Given the description of an element on the screen output the (x, y) to click on. 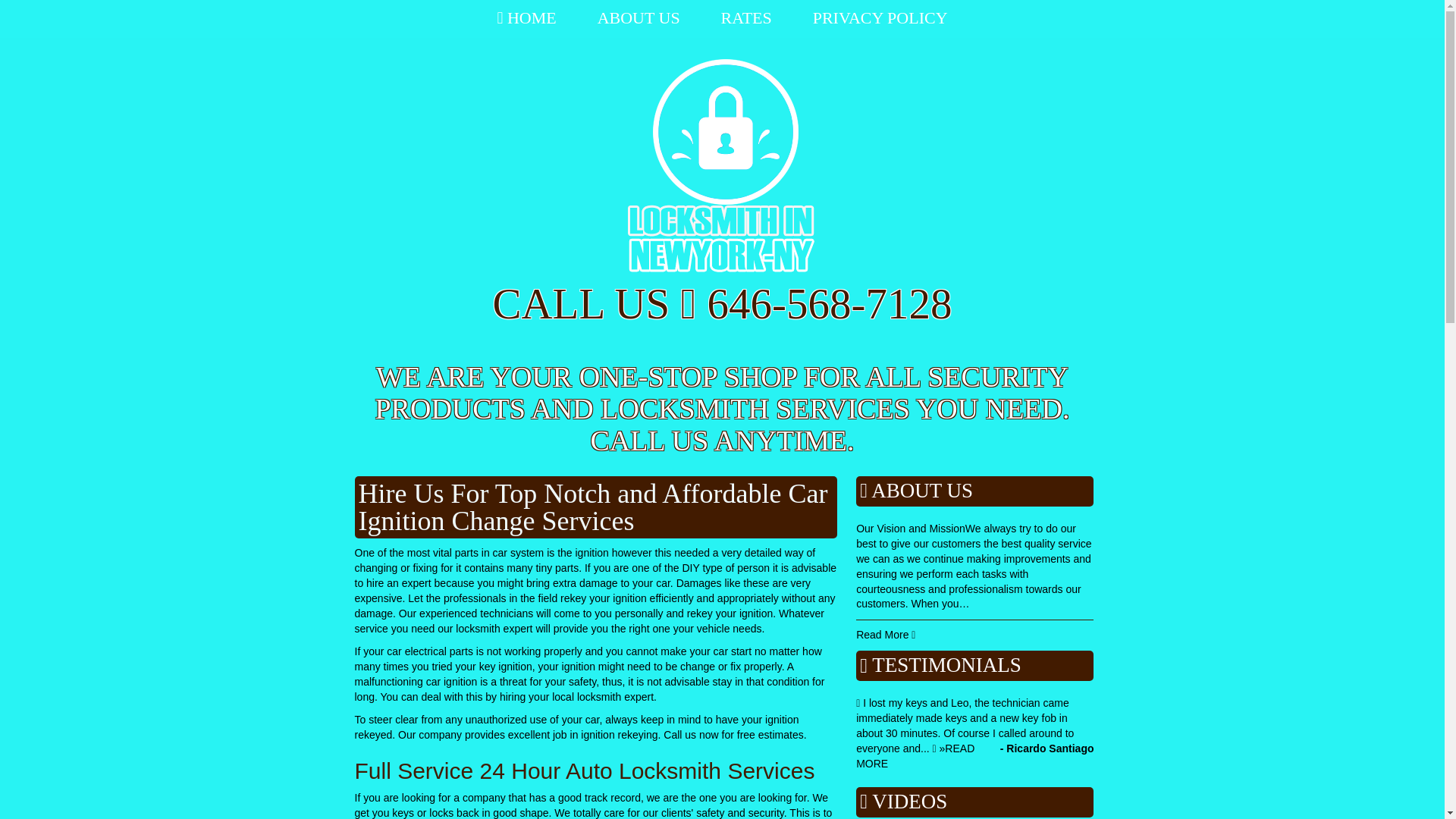
ABOUT US (638, 18)
VIDEOS (909, 801)
RATES (745, 18)
Read More (885, 634)
PRIVACY POLICY (526, 18)
